Given the description of an element on the screen output the (x, y) to click on. 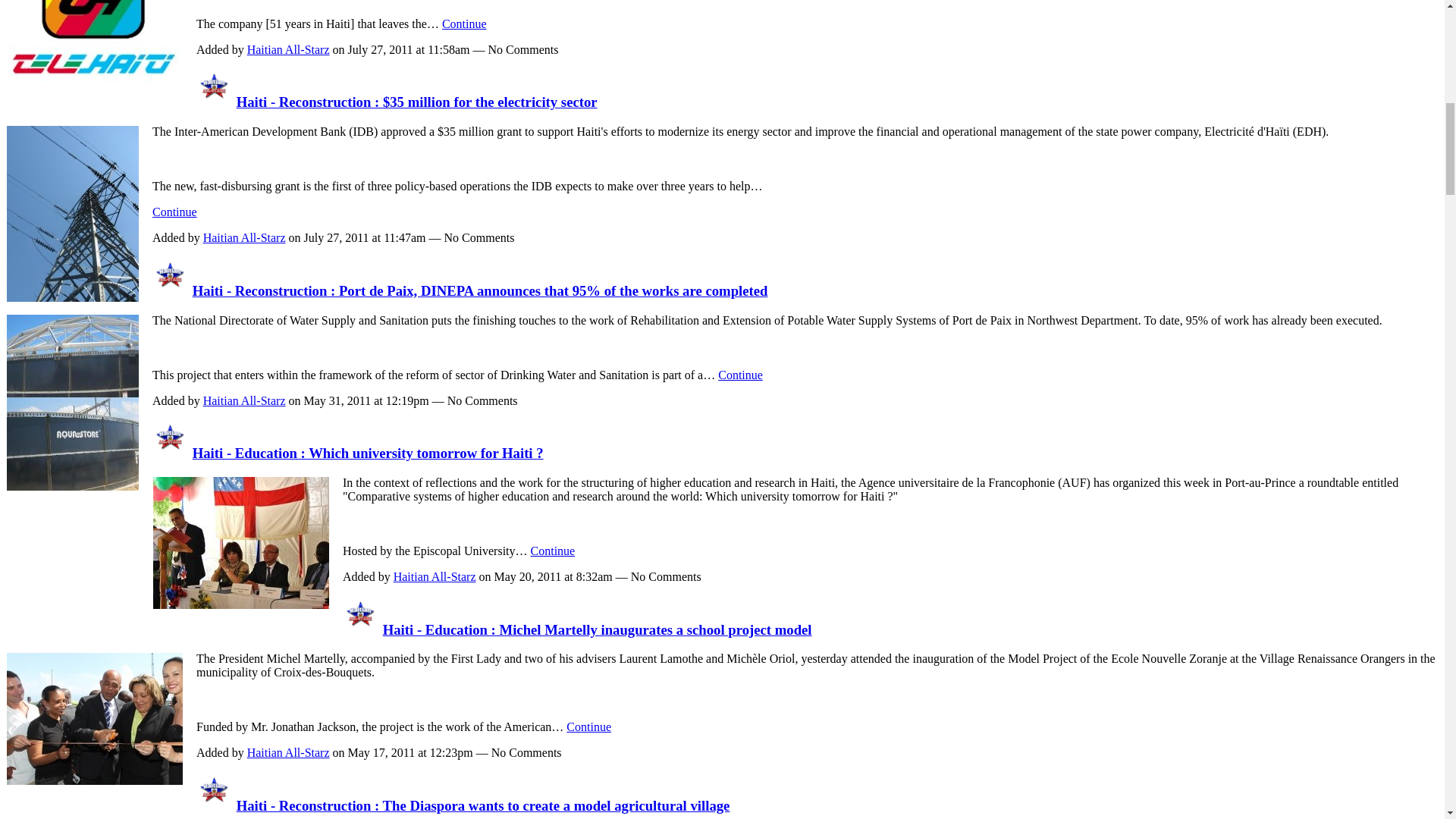
Haitian All-Starz (244, 400)
Continue (464, 23)
Haitian All-Starz (288, 49)
Haiti - Education : Which university tomorrow for Haiti ? (367, 453)
Continue (739, 374)
Haitian All-Starz (360, 629)
Haitian All-Starz (170, 453)
Continue (553, 550)
Haitian All-Starz (170, 290)
Haitian All-Starz (214, 101)
Haitian All-Starz (214, 805)
Continue (174, 211)
Haitian All-Starz (244, 237)
Haitian All-Starz (434, 576)
